Given the description of an element on the screen output the (x, y) to click on. 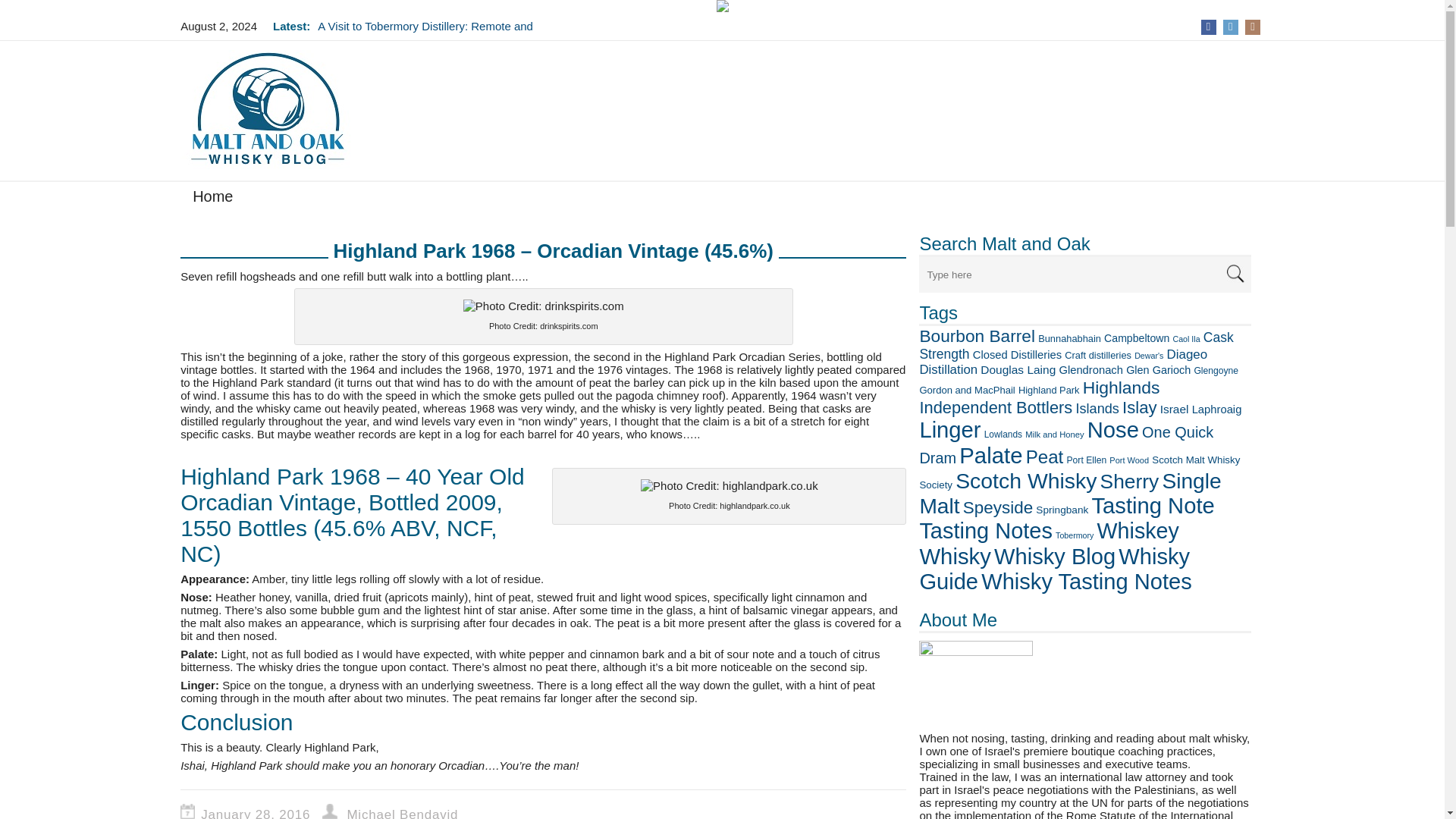
Highlands (1121, 387)
Diageo (1186, 354)
Highland Park (1048, 389)
7:15 am (258, 813)
Search (1234, 273)
Bunnahabhain (1069, 337)
Distillation (947, 369)
Closed Distilleries (1016, 354)
Independent Bottlers (994, 407)
Bourbon Barrel (976, 335)
Gordon and MacPhail (966, 389)
Cask Strength (1075, 345)
Home (212, 199)
Glen Garioch (1158, 369)
Campbeltown (1136, 337)
